Given the description of an element on the screen output the (x, y) to click on. 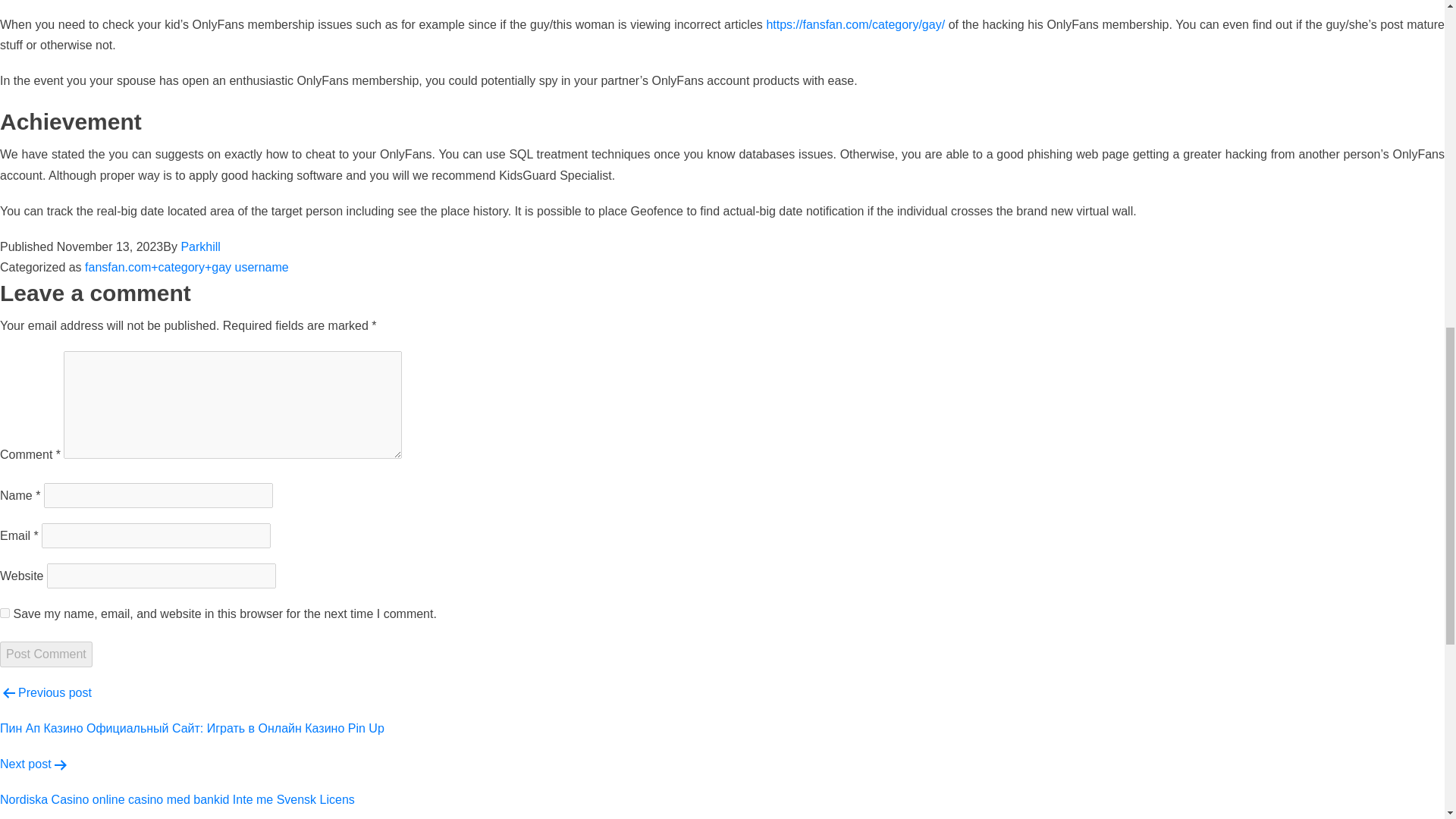
yes (5, 613)
Post Comment (46, 653)
Post Comment (46, 653)
Parkhill (199, 246)
